Given the description of an element on the screen output the (x, y) to click on. 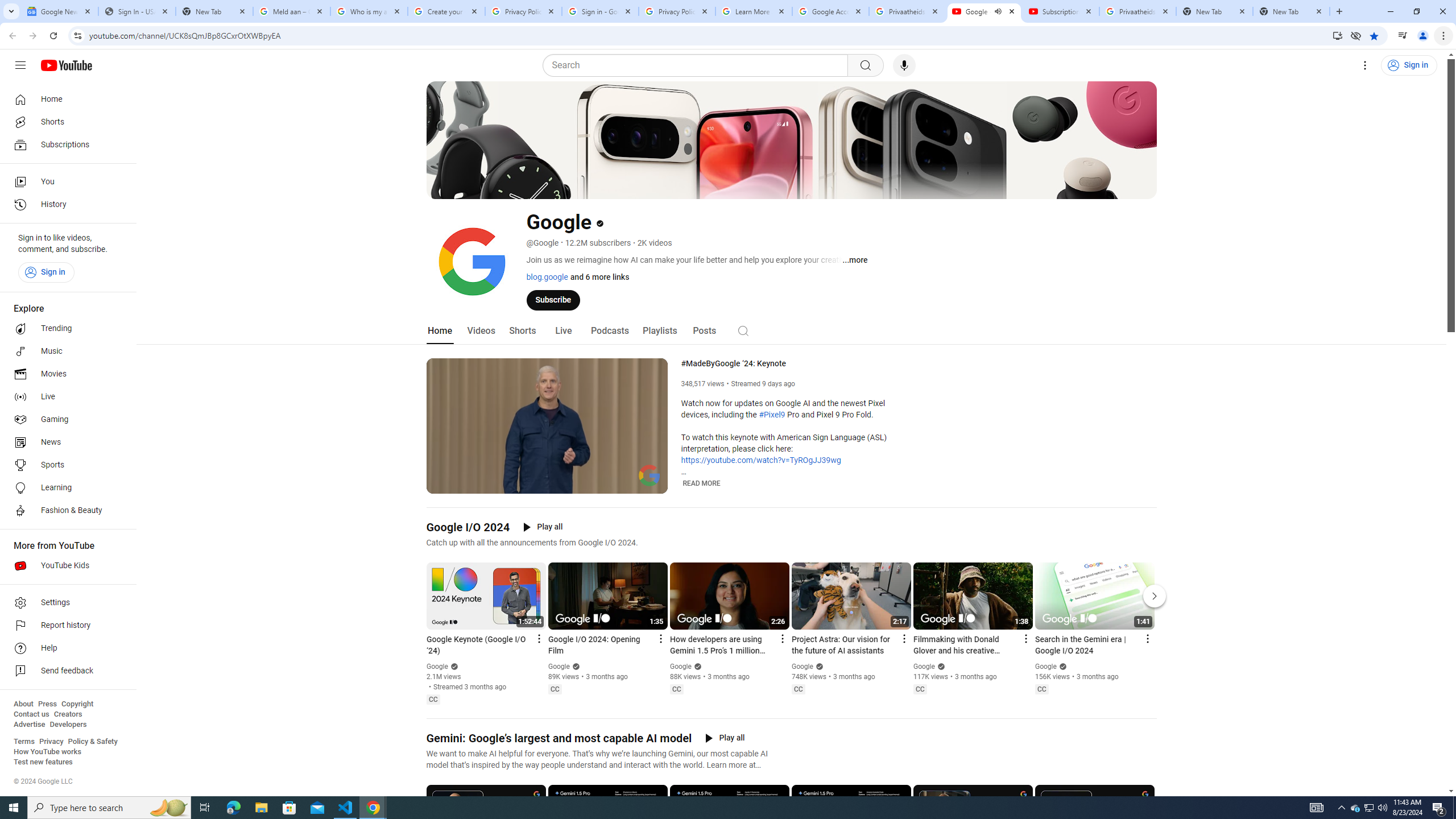
Full screen (f) (650, 483)
New Tab (1291, 11)
Creators (67, 714)
YouTube Home (66, 65)
Seek slider (546, 471)
Play all (724, 738)
Music (64, 350)
How YouTube works (47, 751)
